Given the description of an element on the screen output the (x, y) to click on. 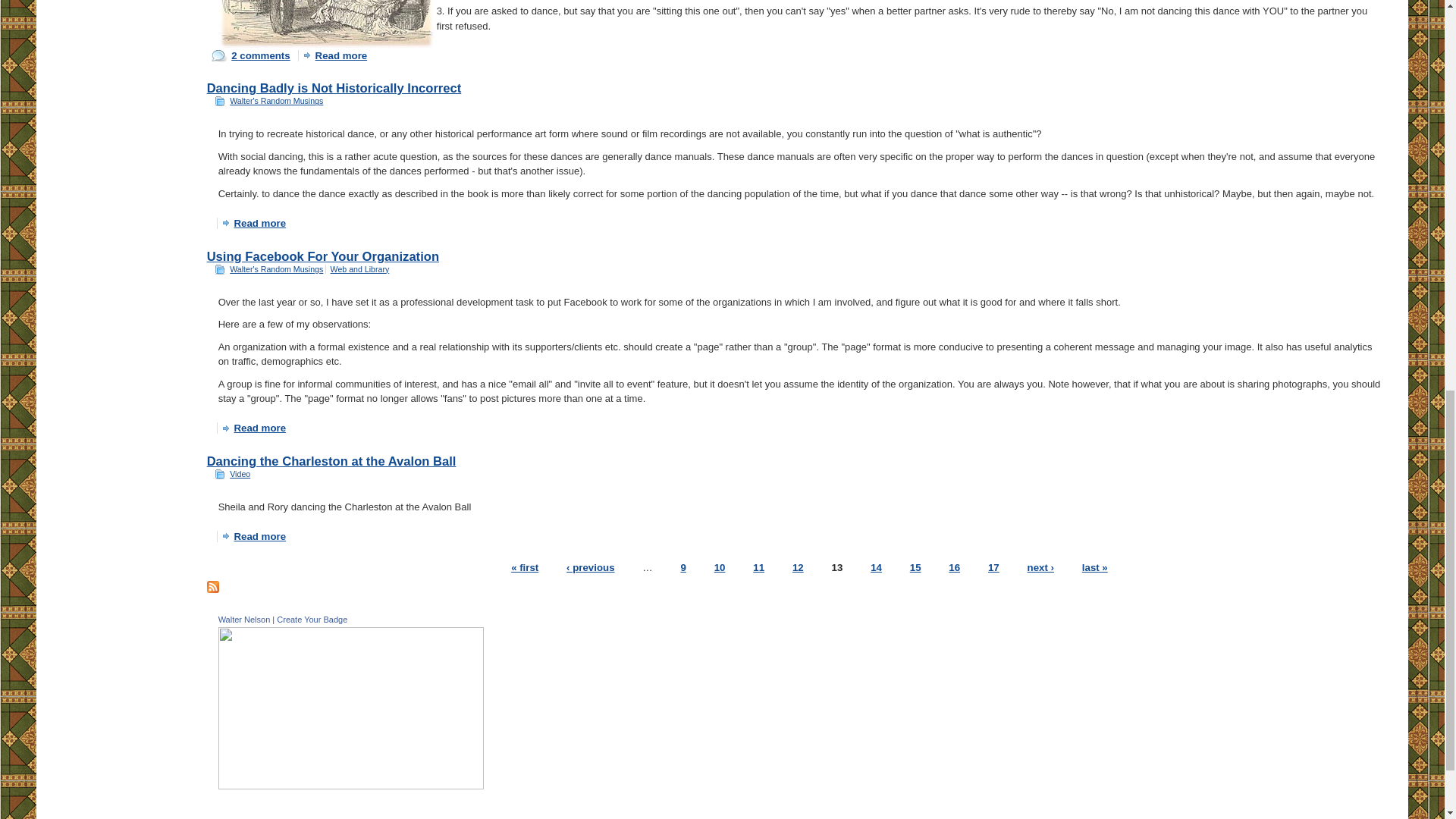
Dancing the Charleston at the Avalon Ball (331, 461)
Read more (254, 428)
Read more (254, 536)
Walter's Random Musings (276, 267)
Read more (336, 55)
Walter's Random Musings (276, 100)
Read more (254, 223)
Using Facebook For Your Organization (322, 255)
Jump to the first comment of this posting. (250, 55)
Read the rest of A Ballroom Guide. (336, 55)
